Given the description of an element on the screen output the (x, y) to click on. 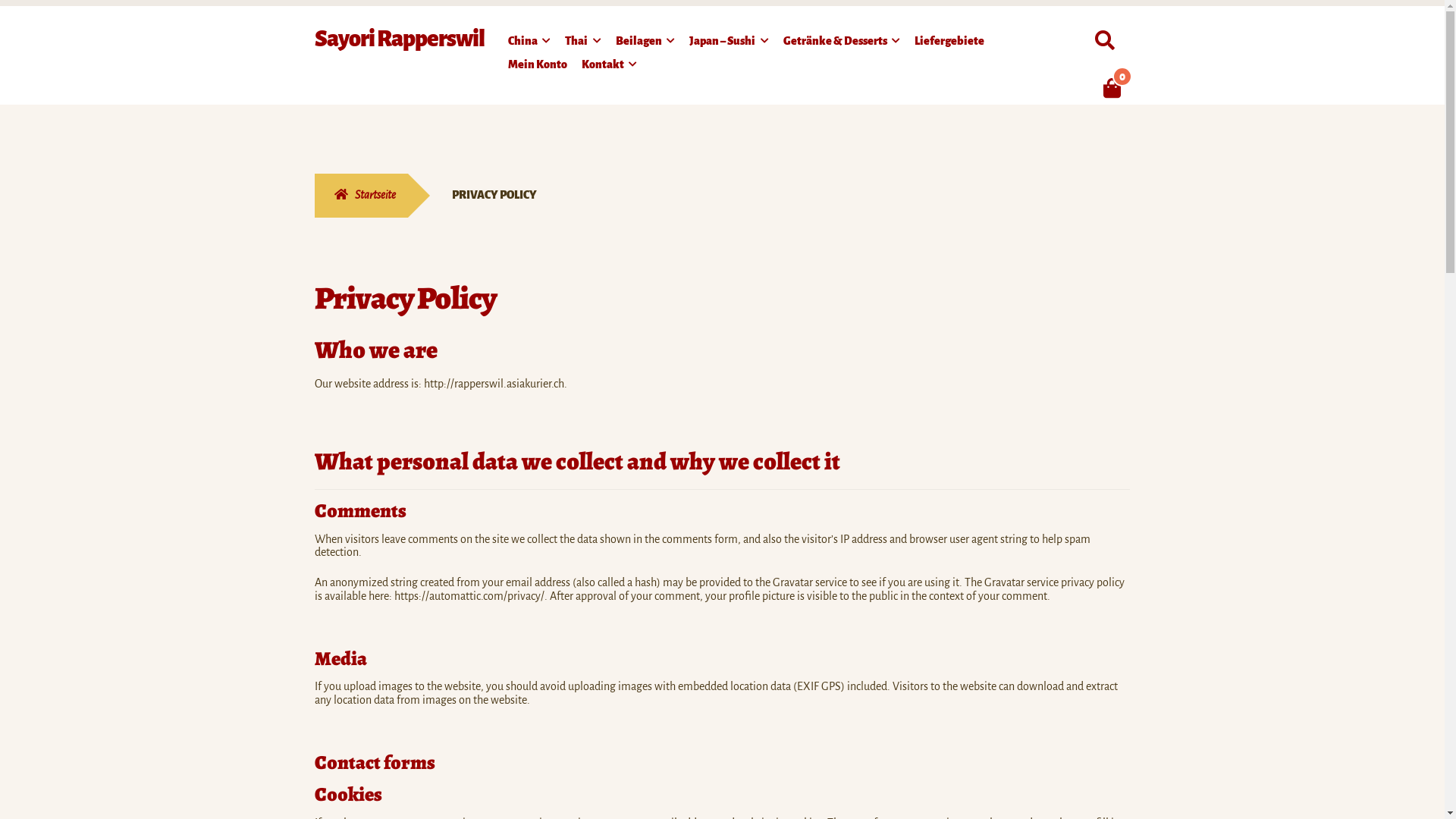
Skip to navigation Element type: text (313, 25)
Suche Element type: text (1085, 24)
Sayori Rapperswil Element type: text (399, 38)
Liefergebiete Element type: text (949, 43)
Mein Konto Element type: text (537, 66)
Thai Element type: text (582, 43)
Startseite Element type: text (360, 195)
China Element type: text (529, 43)
Kontakt Element type: text (609, 66)
Beilagen Element type: text (644, 43)
